Given the description of an element on the screen output the (x, y) to click on. 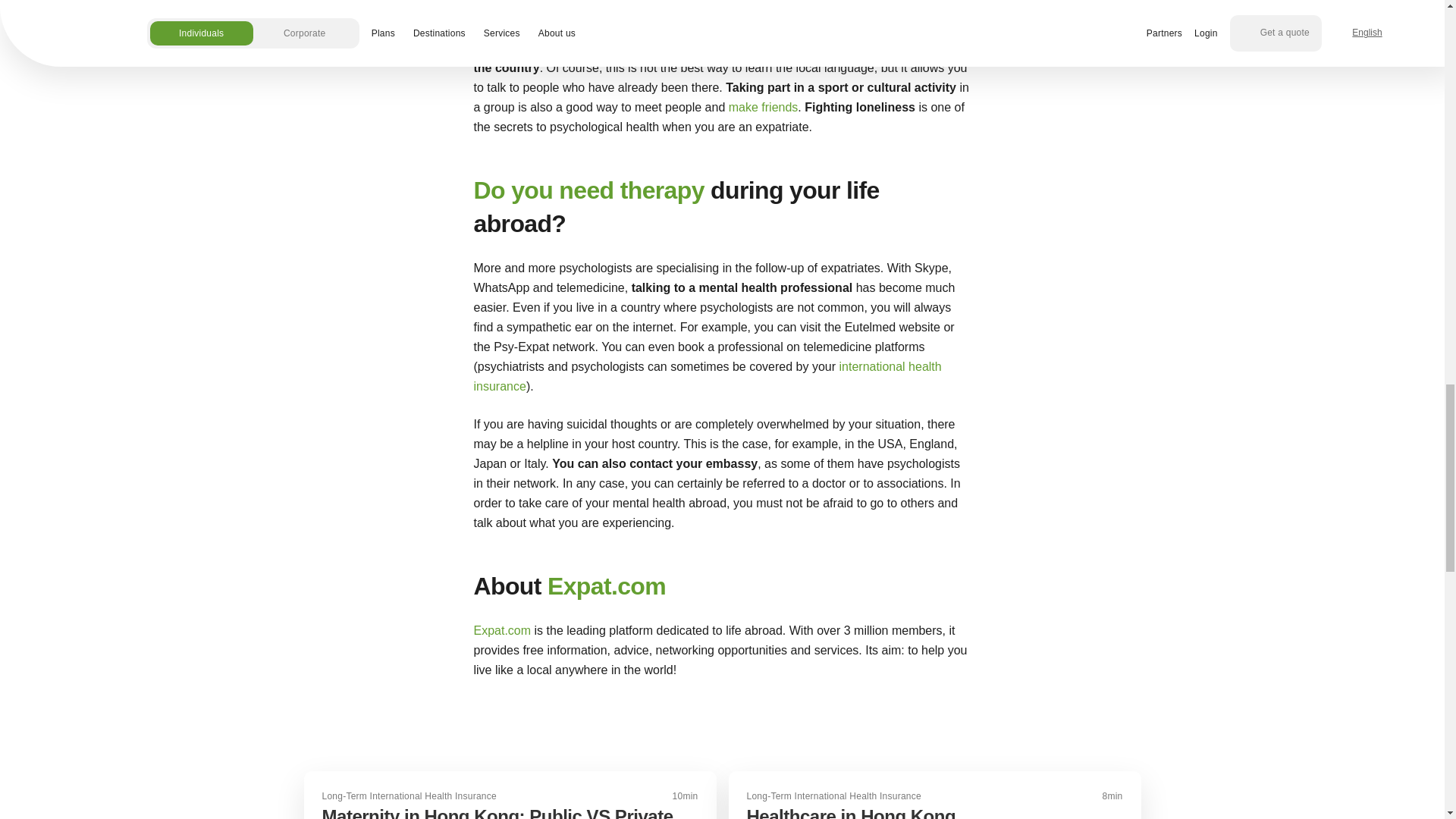
international health insurance (706, 375)
make friends (763, 106)
